Given the description of an element on the screen output the (x, y) to click on. 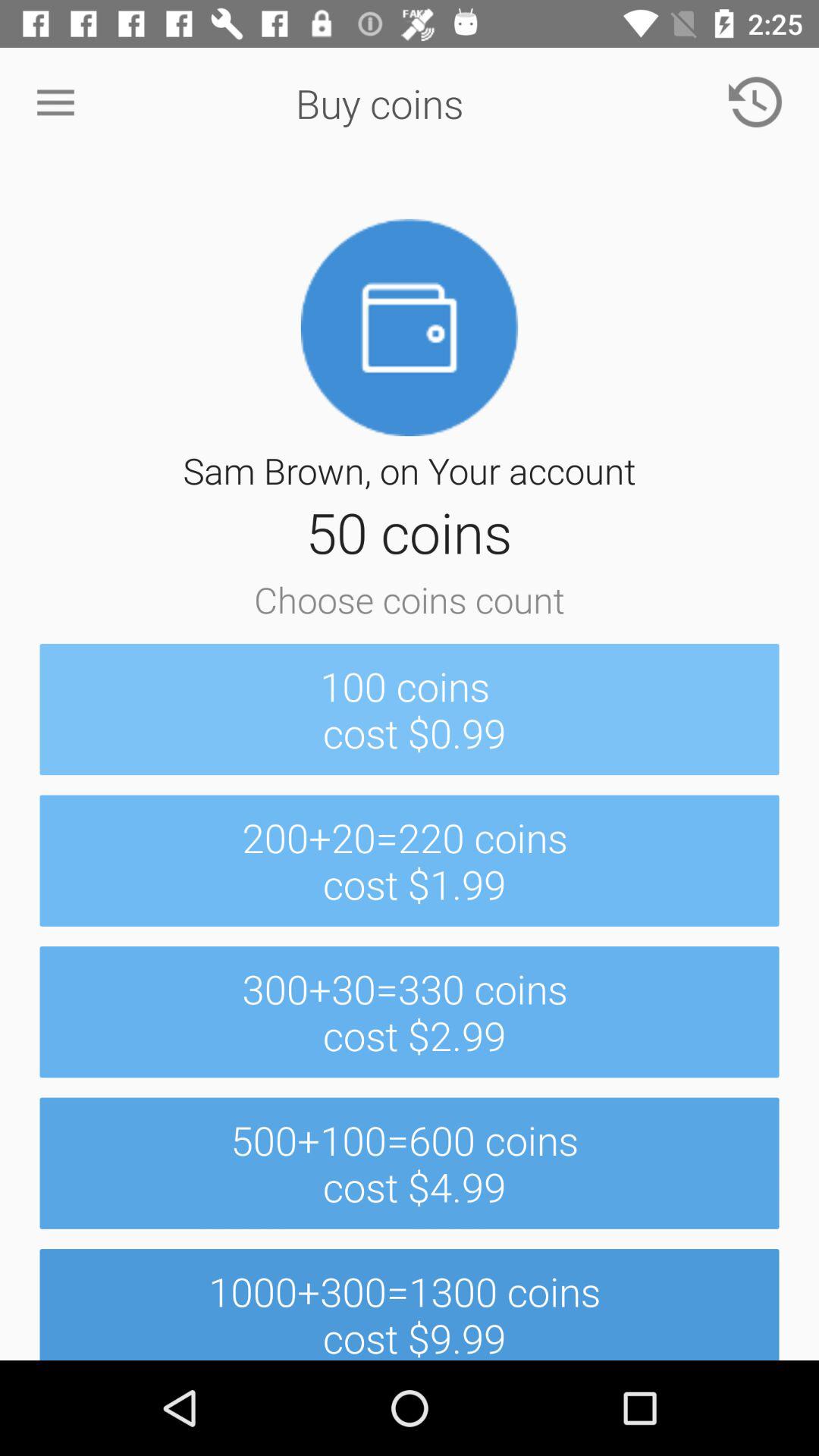
turn off the icon below 200 20 220 (409, 1011)
